Given the description of an element on the screen output the (x, y) to click on. 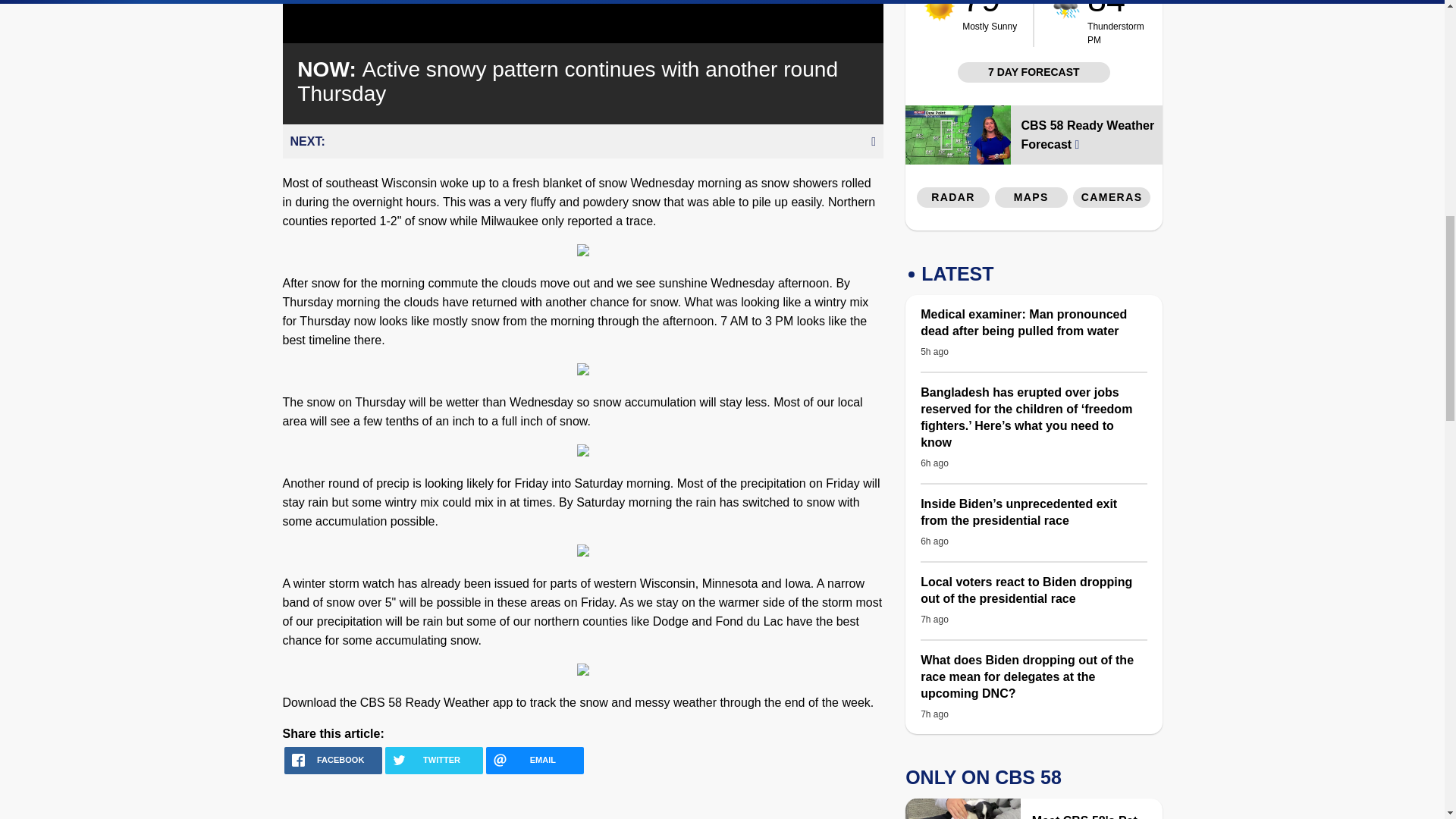
weather (1066, 9)
weather (989, 16)
weather (939, 10)
weather (1118, 23)
